Given the description of an element on the screen output the (x, y) to click on. 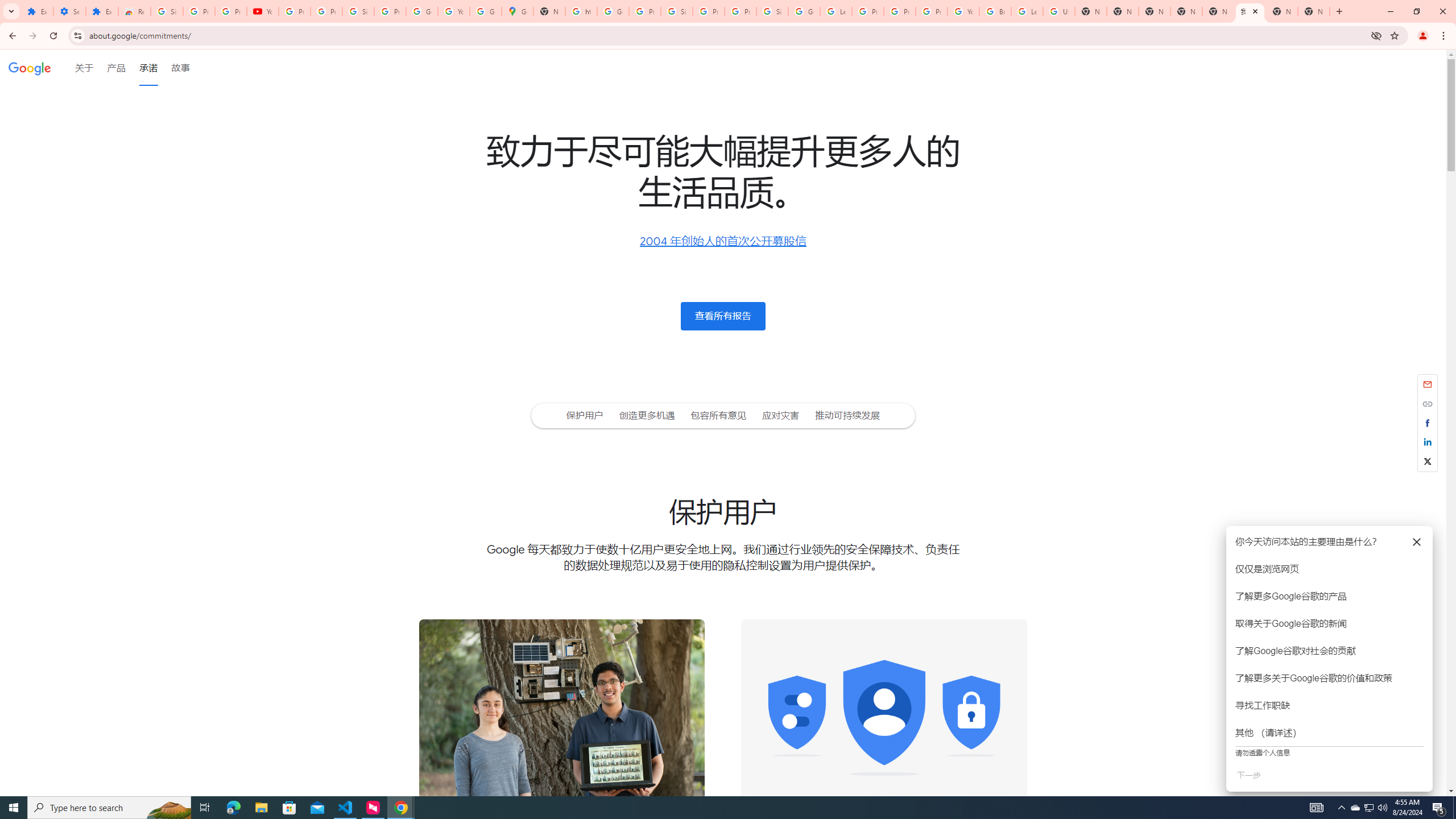
New Tab (1154, 11)
YouTube (262, 11)
